Given the description of an element on the screen output the (x, y) to click on. 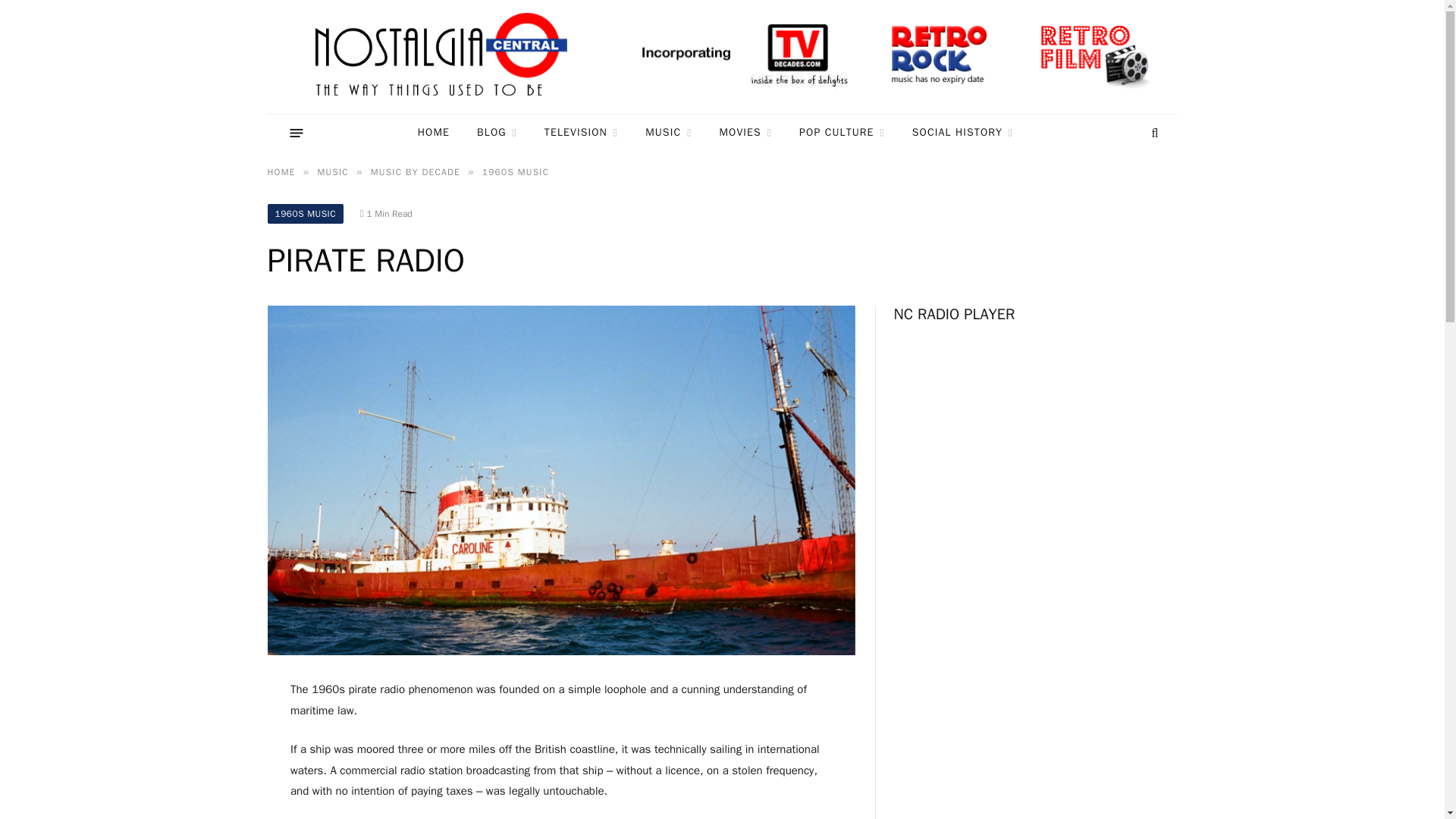
BLOG (497, 132)
TELEVISION (581, 132)
Nostalgia Central (444, 56)
HOME (433, 132)
